Given the description of an element on the screen output the (x, y) to click on. 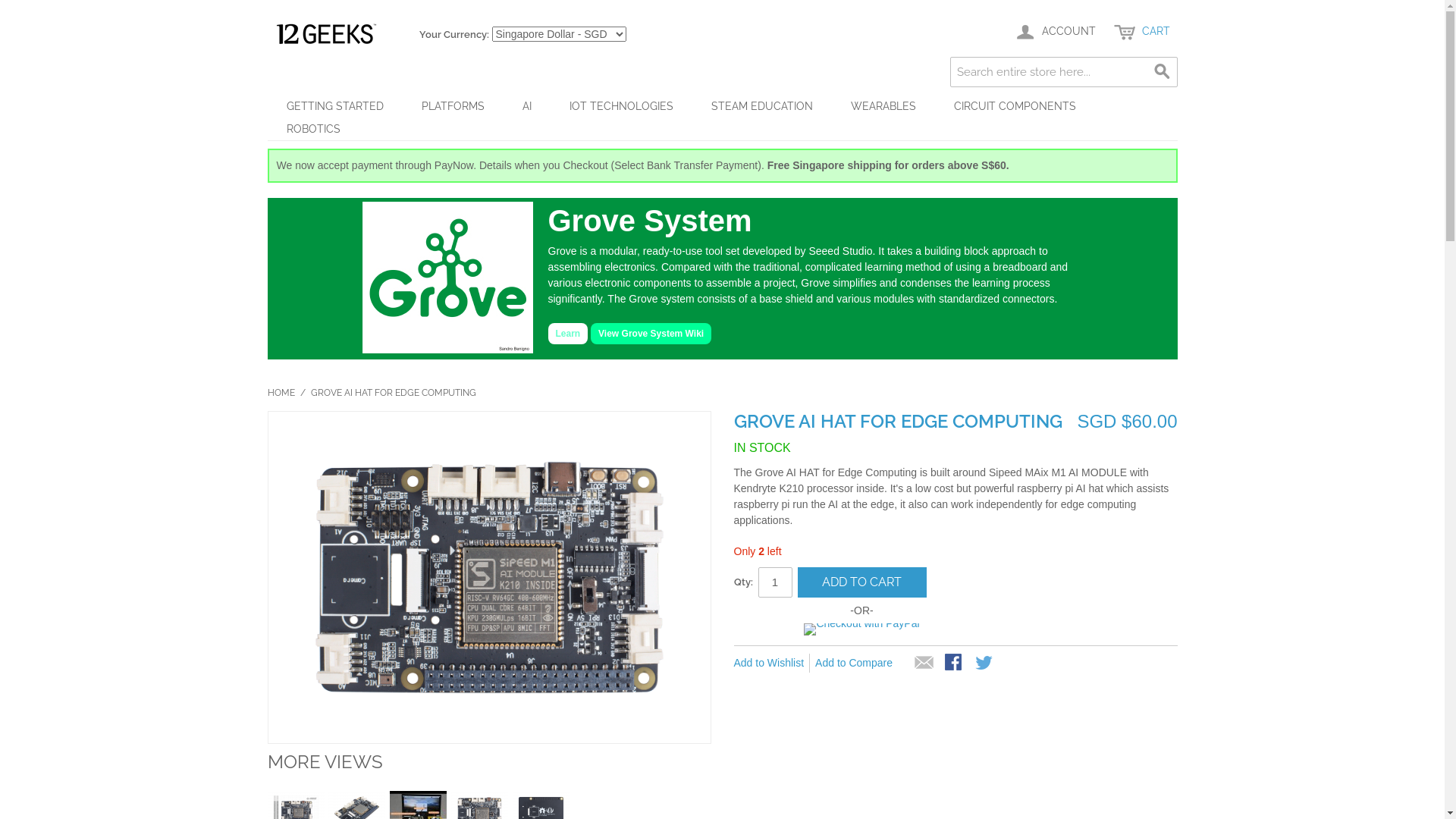
ACCOUNT Element type: text (1053, 31)
PLATFORMS Element type: text (451, 105)
Share Facebook Element type: text (954, 663)
GETTING STARTED Element type: text (333, 105)
Grove System Element type: hover (447, 277)
CIRCUIT COMPONENTS Element type: text (1014, 105)
Qty Element type: hover (775, 582)
Grove AI HAT for Edge Computing Element type: hover (489, 577)
STEAM EDUCATION Element type: text (761, 105)
IOT TECHNOLOGIES Element type: text (621, 105)
WEARABLES Element type: text (882, 105)
CART Element type: text (1140, 31)
Search Element type: hover (1161, 71)
ROBOTICS Element type: text (312, 128)
ADD TO CART Element type: text (861, 582)
Add to Compare Element type: text (856, 662)
View Grove System Wiki Element type: text (650, 333)
Email to a Friend Element type: text (924, 663)
HOME Element type: text (280, 392)
Share on Twitter Element type: text (984, 663)
AI Element type: text (526, 105)
Add to Wishlist Element type: text (772, 662)
Learn Element type: text (567, 333)
Checkout with PayPal Element type: hover (861, 629)
